Given the description of an element on the screen output the (x, y) to click on. 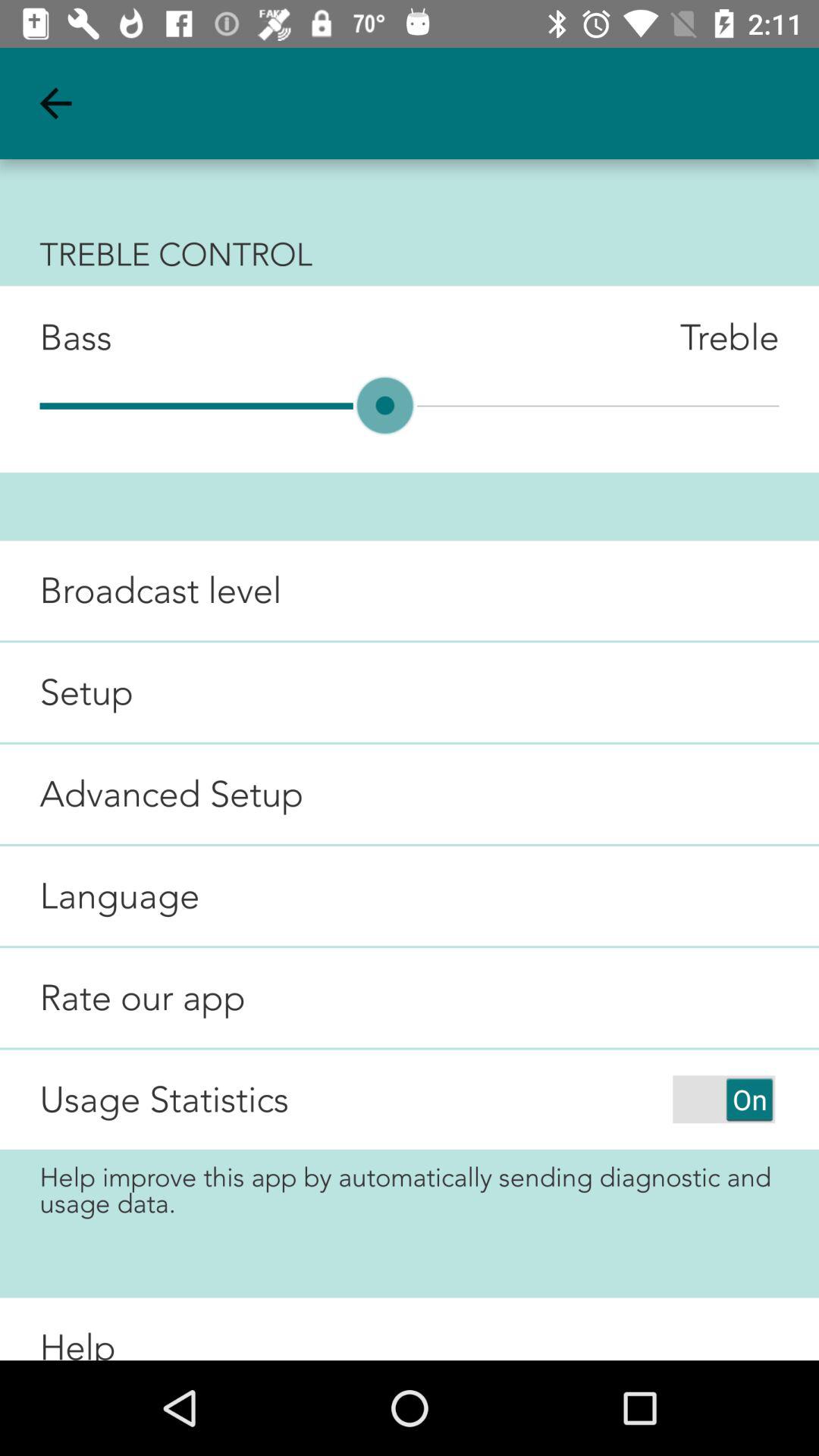
turn off item below advanced setup icon (99, 895)
